Given the description of an element on the screen output the (x, y) to click on. 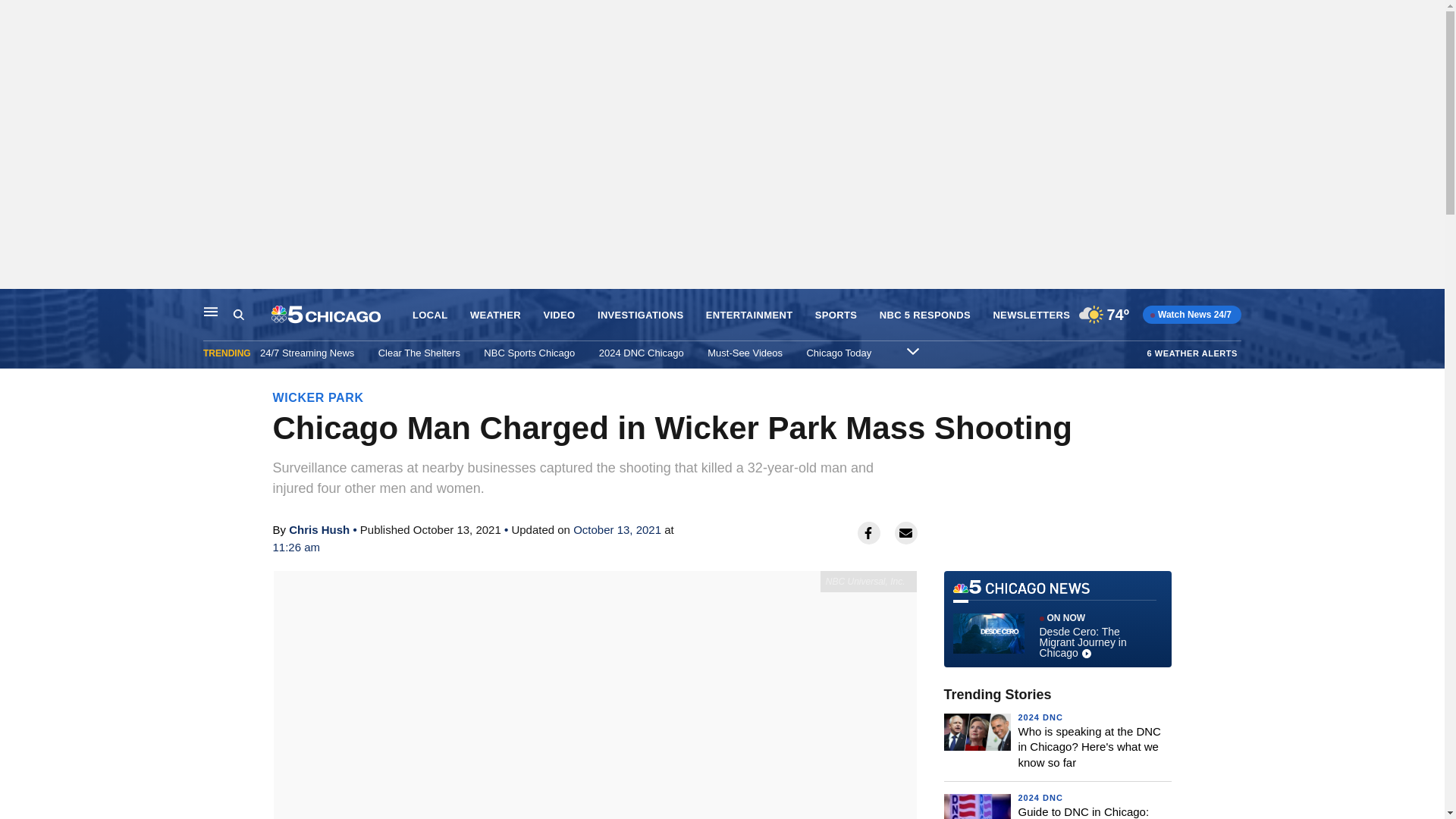
VIDEO (559, 315)
Skip to content (16, 304)
NBC Sports Chicago (529, 352)
LOCAL (429, 315)
Main Navigation (210, 311)
6 WEATHER ALERTS (1192, 352)
Chris Hush (318, 529)
INVESTIGATIONS (639, 315)
Search (238, 314)
NEWSLETTERS (1031, 315)
